Given the description of an element on the screen output the (x, y) to click on. 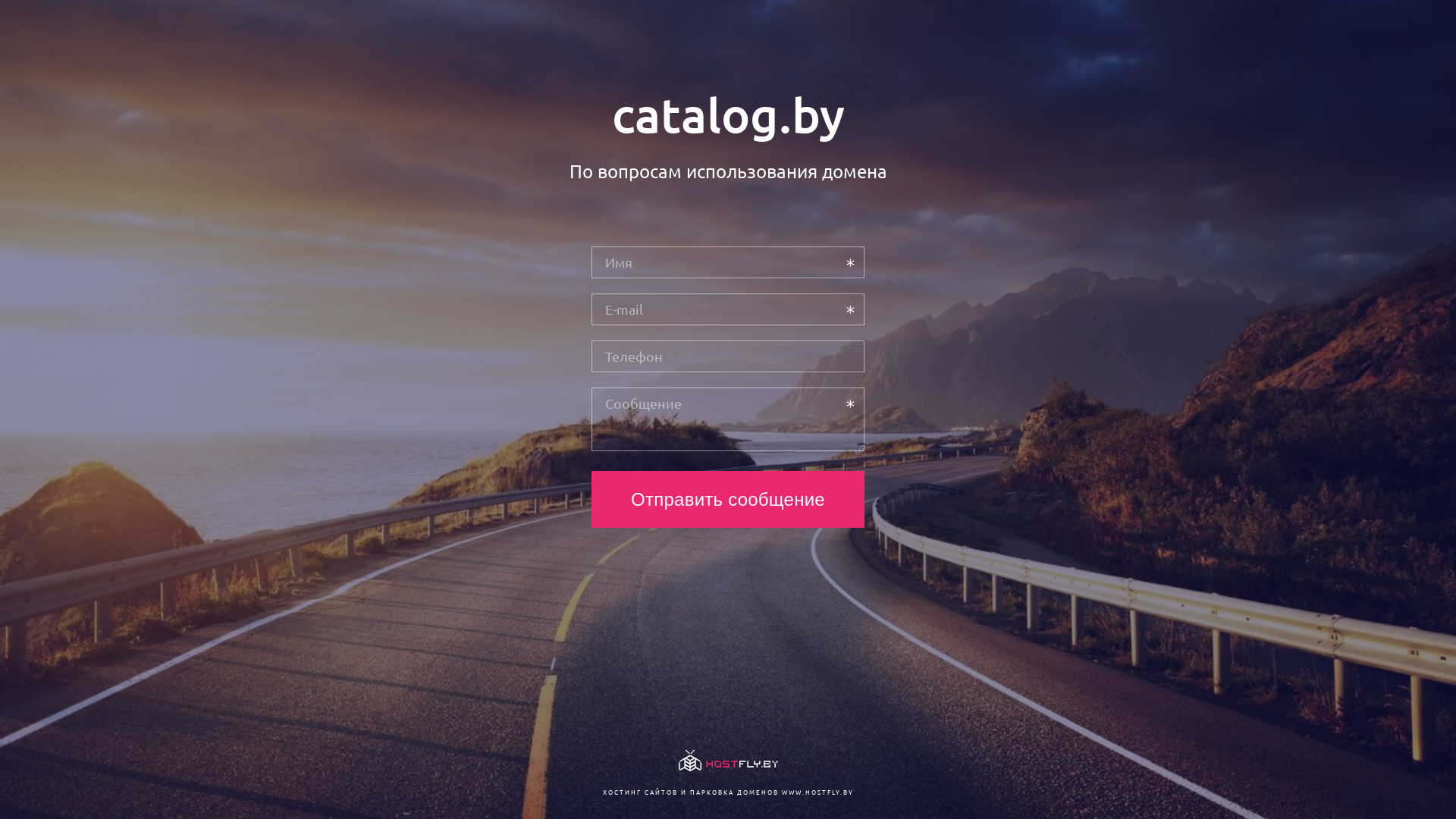
WWW.HOSTFLY.BY Element type: text (817, 791)
